Given the description of an element on the screen output the (x, y) to click on. 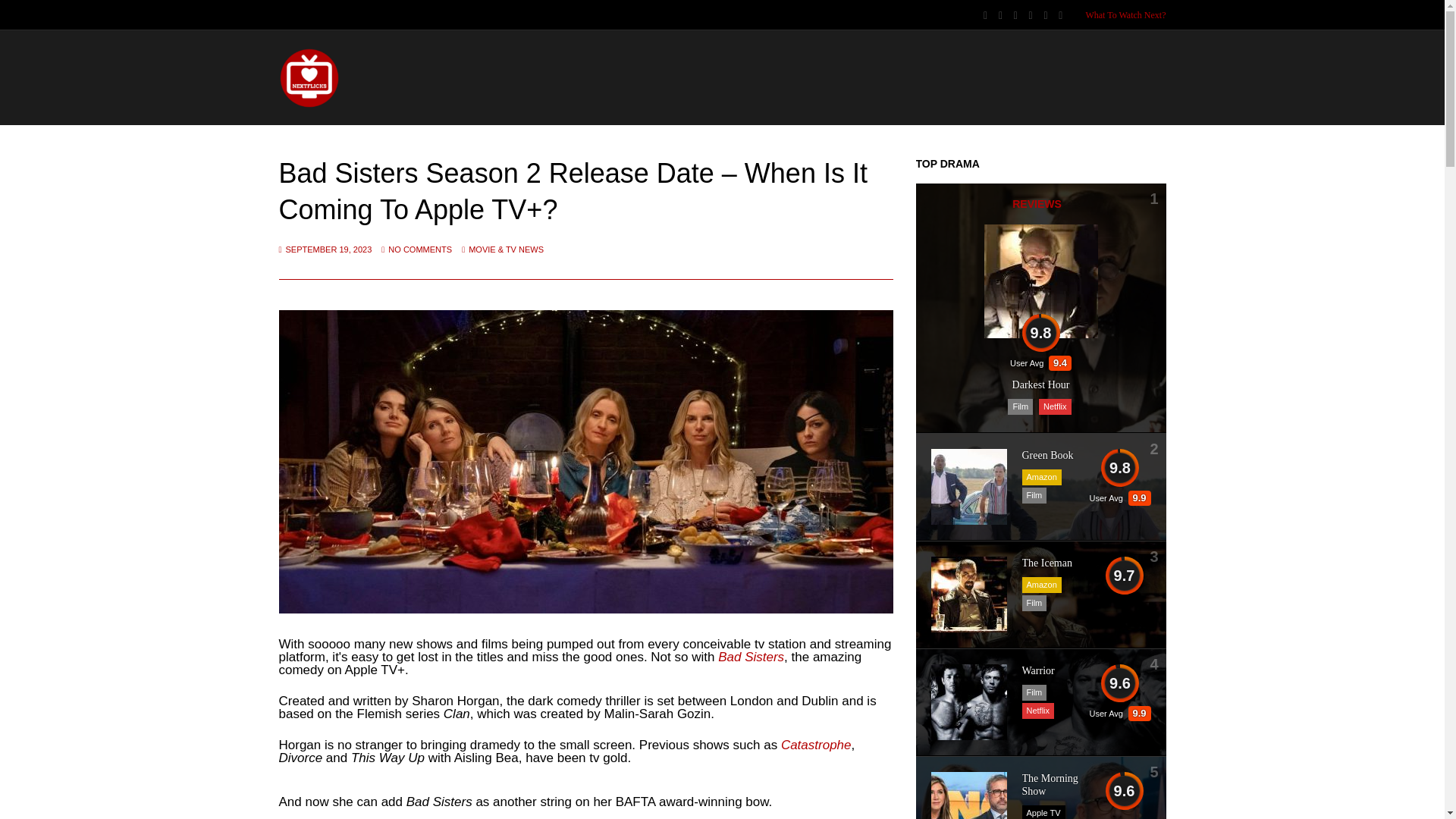
What To Watch Next? (1125, 15)
NextFlicks (309, 104)
